Given the description of an element on the screen output the (x, y) to click on. 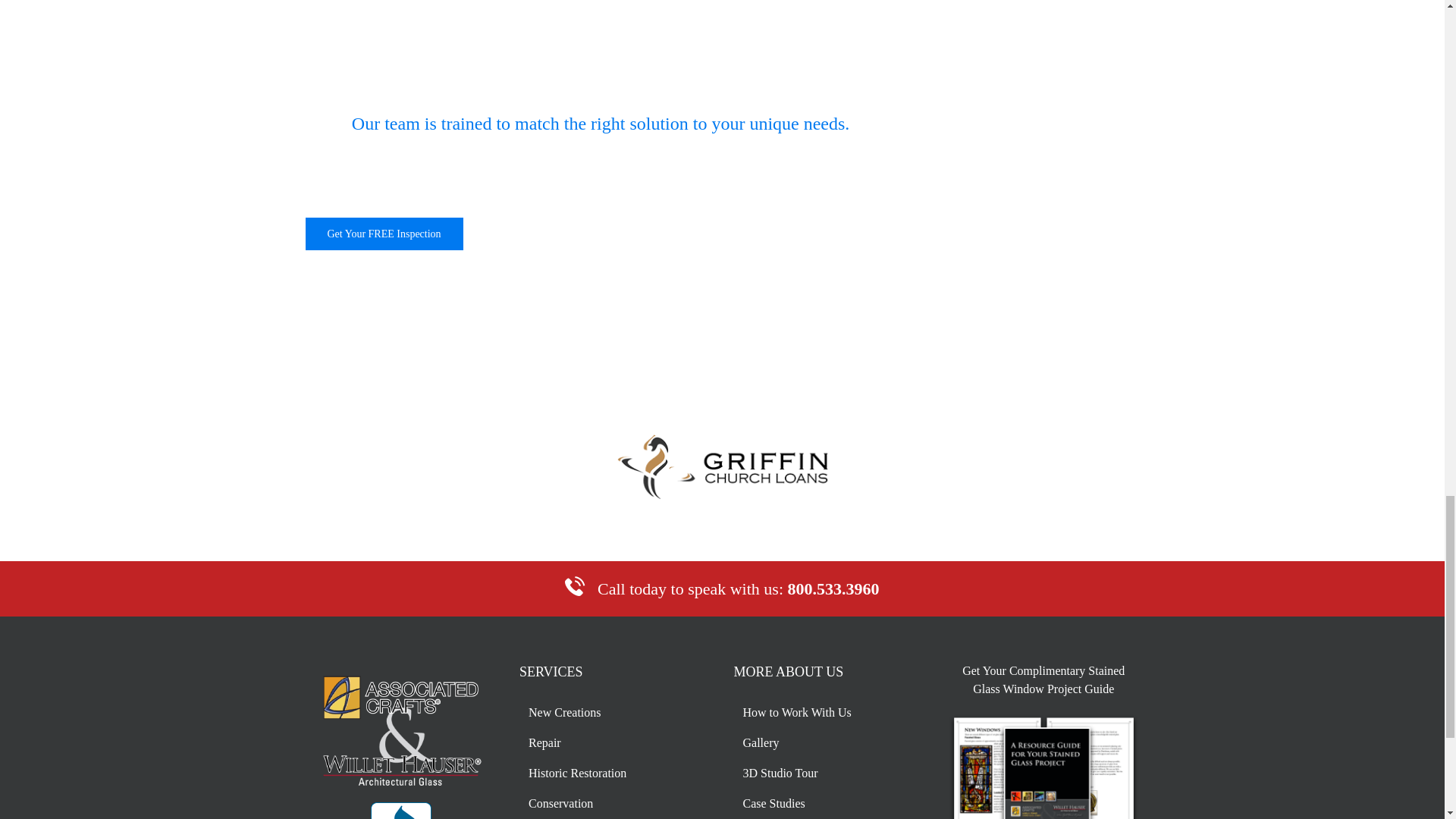
church-loan-logo (721, 467)
